Given the description of an element on the screen output the (x, y) to click on. 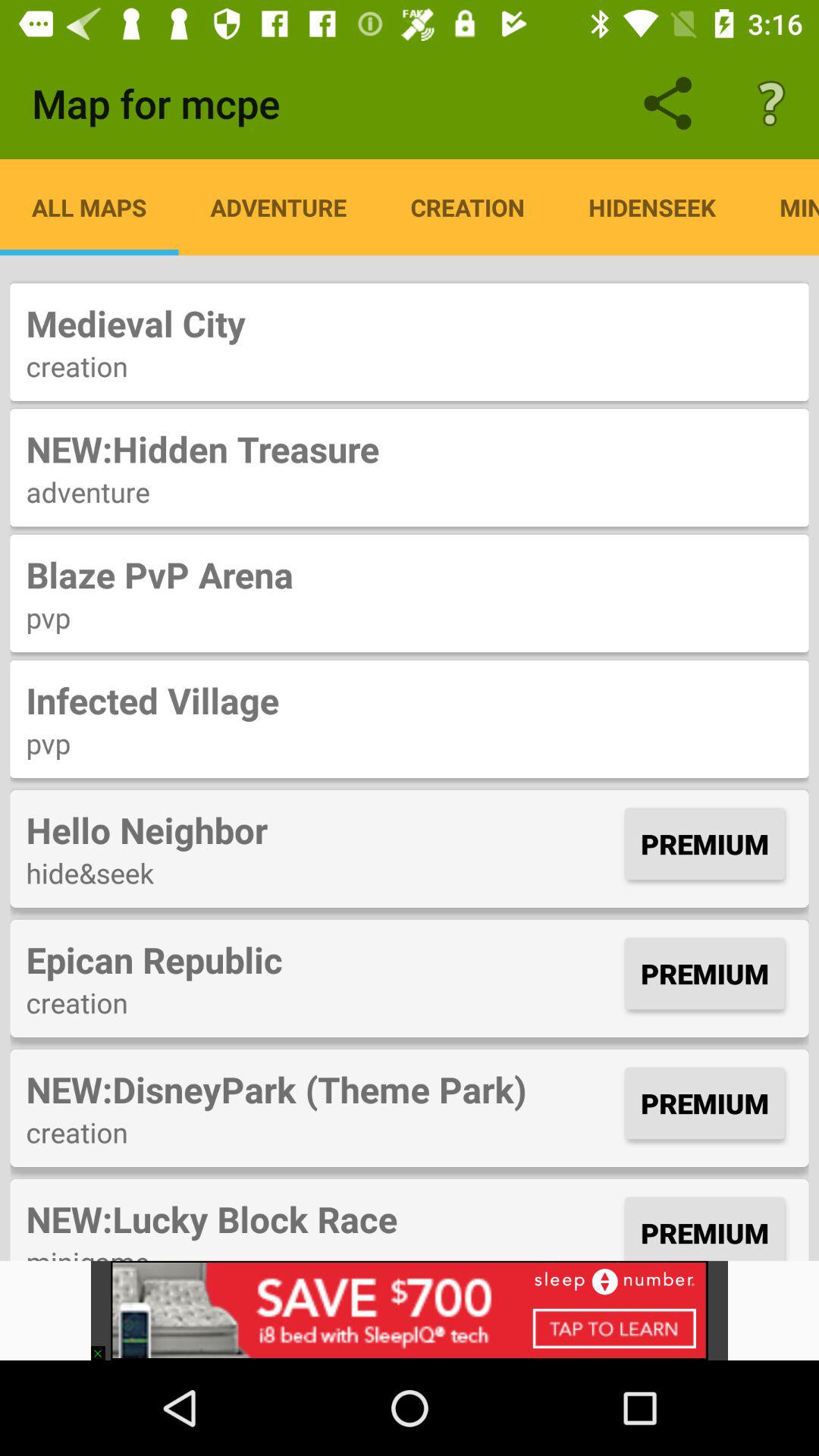
turn off the icon at the bottom left corner (105, 1346)
